Given the description of an element on the screen output the (x, y) to click on. 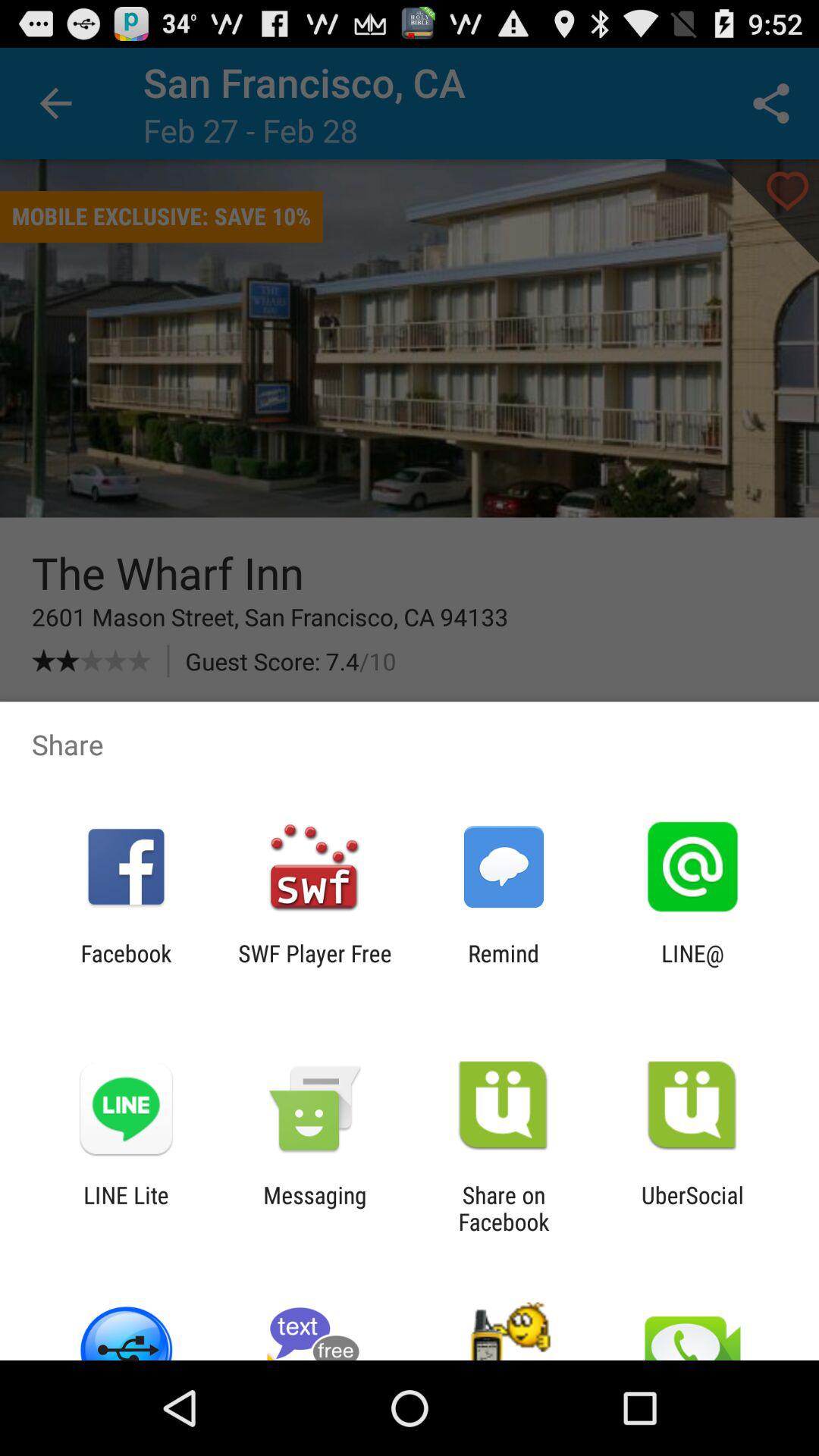
choose item next to messaging (503, 1208)
